Given the description of an element on the screen output the (x, y) to click on. 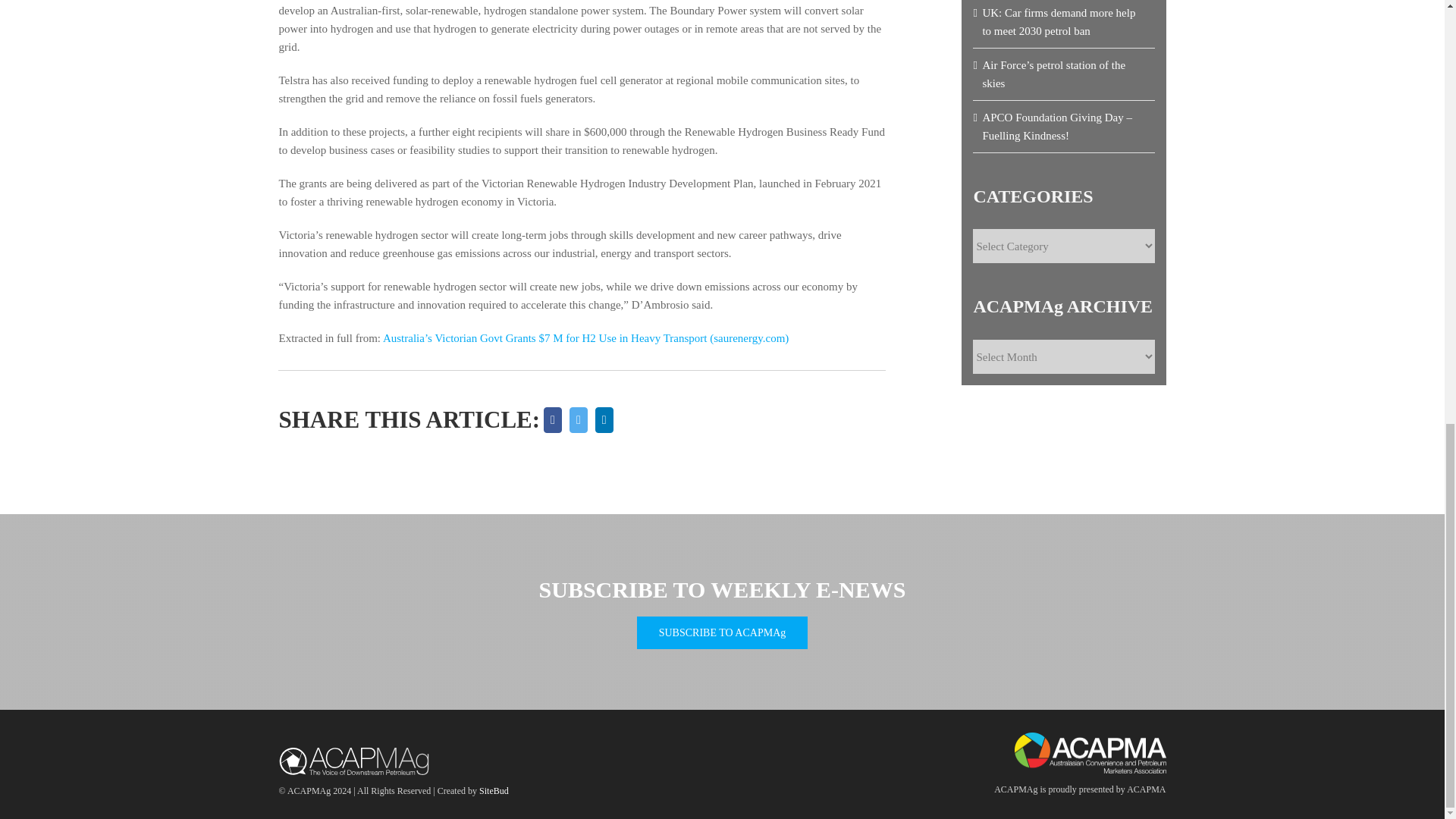
Facebook (553, 419)
LinkedIn (604, 419)
Twitter (578, 419)
SUBSCRIBE TO ACAPMAg (722, 632)
SiteBud (493, 790)
UK: Car firms demand more help to meet 2030 petrol ban (1058, 21)
